Given the description of an element on the screen output the (x, y) to click on. 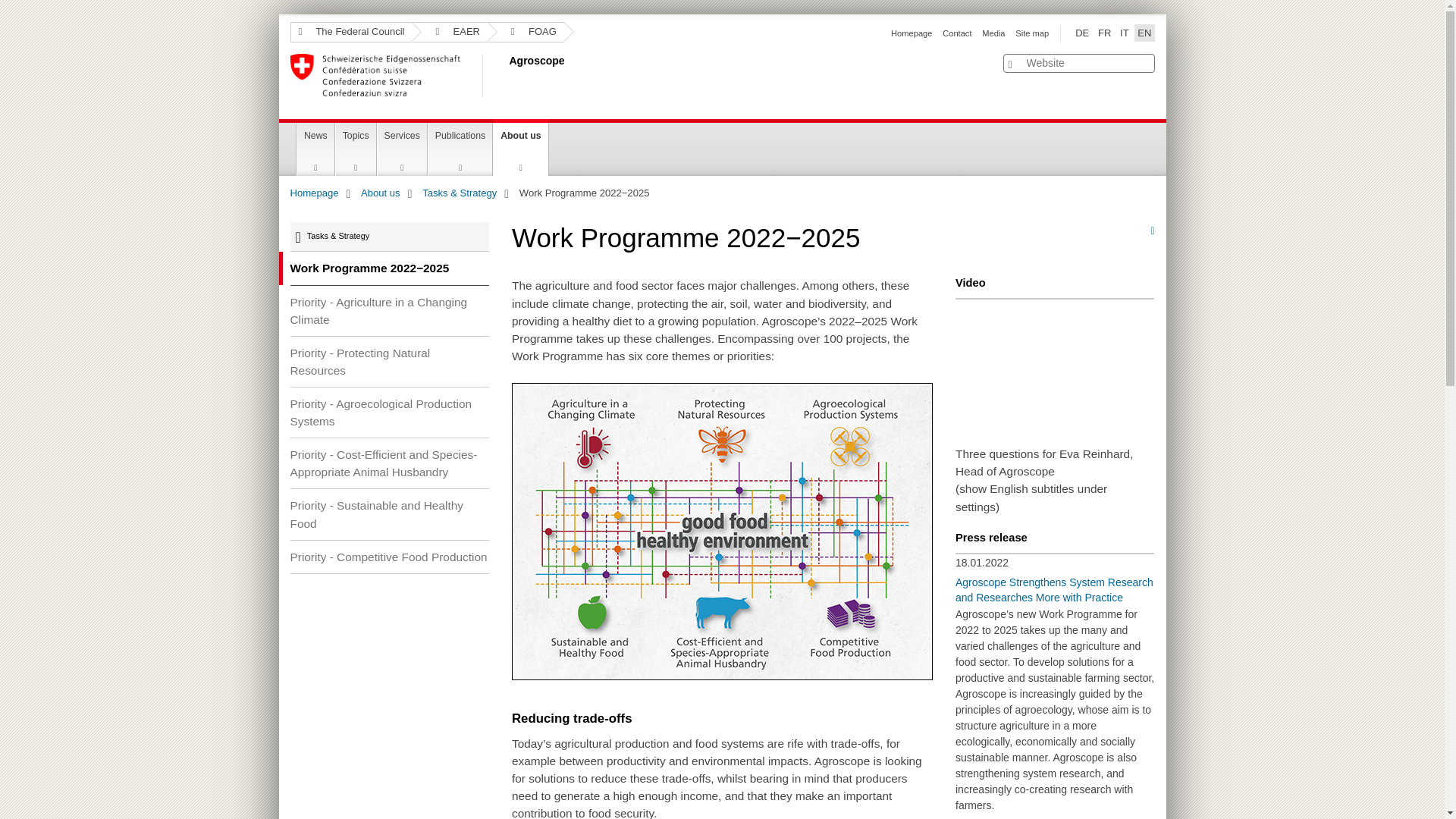
DE (1081, 32)
Homepage (911, 32)
Agroscope (505, 75)
French (1103, 32)
EN (1144, 32)
German (1081, 32)
Media (992, 32)
EAER (449, 32)
The Federal Council (350, 32)
English selected (1144, 32)
FR (1103, 32)
Site map (1031, 32)
Contact (956, 32)
FOAG (525, 32)
